Given the description of an element on the screen output the (x, y) to click on. 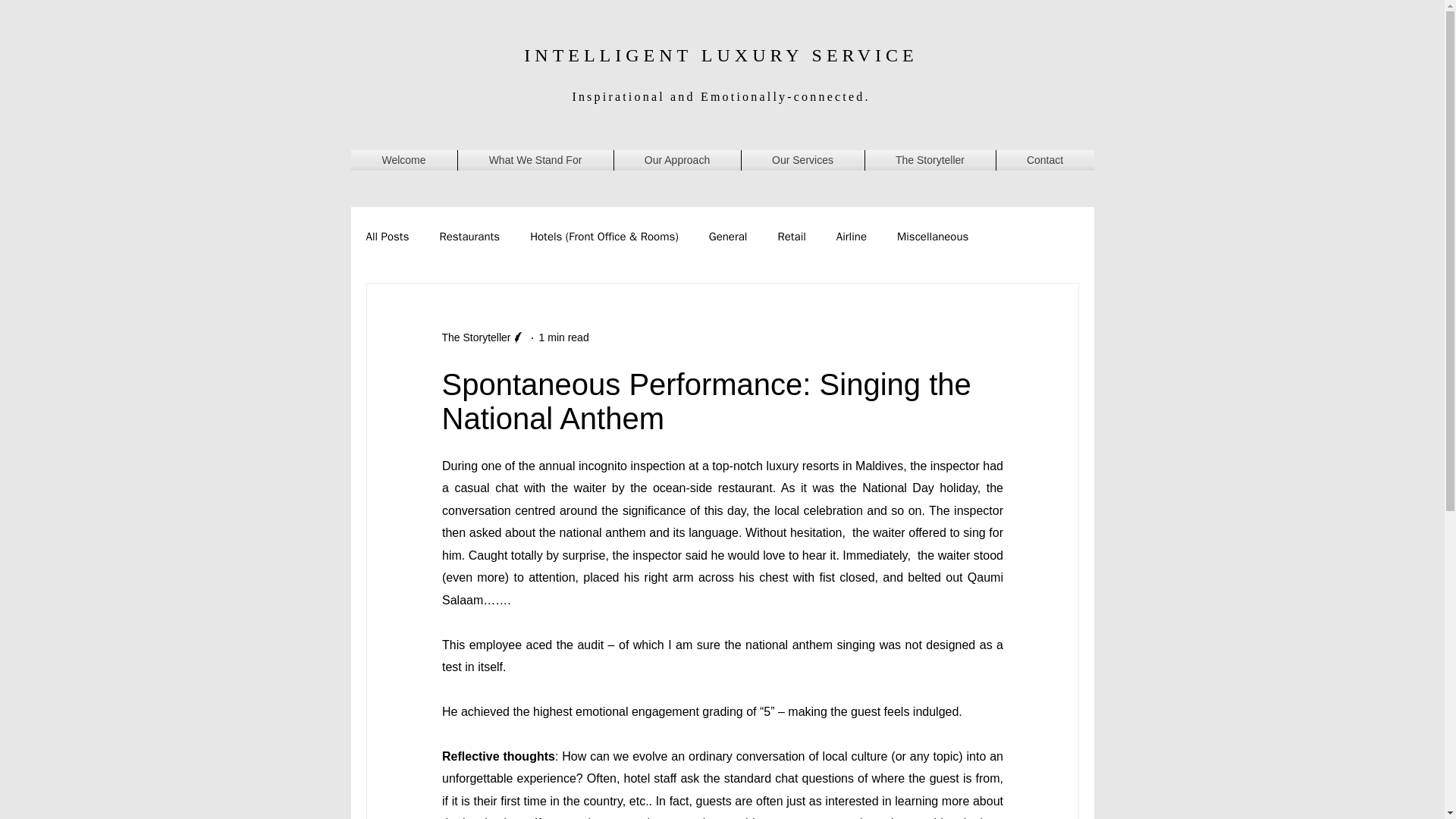
Miscellaneous (932, 237)
Airline (850, 237)
All Posts (387, 237)
Our Approach (677, 159)
INTELLIGENT LUXURY SERVICE (720, 55)
Retail (791, 237)
Contact (1044, 159)
What We Stand For (535, 159)
Welcome (403, 159)
The Storyteller (476, 337)
